Given the description of an element on the screen output the (x, y) to click on. 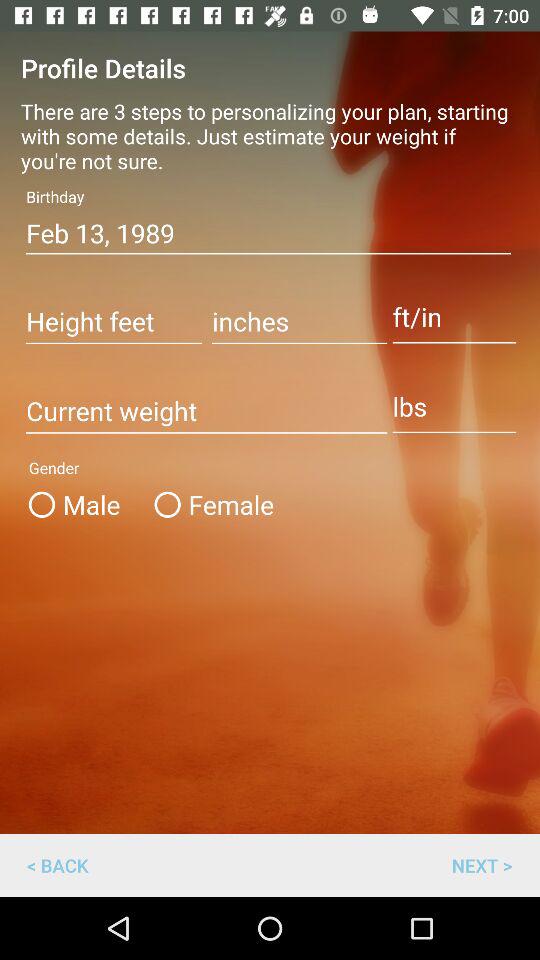
flip to the next > item (482, 864)
